Given the description of an element on the screen output the (x, y) to click on. 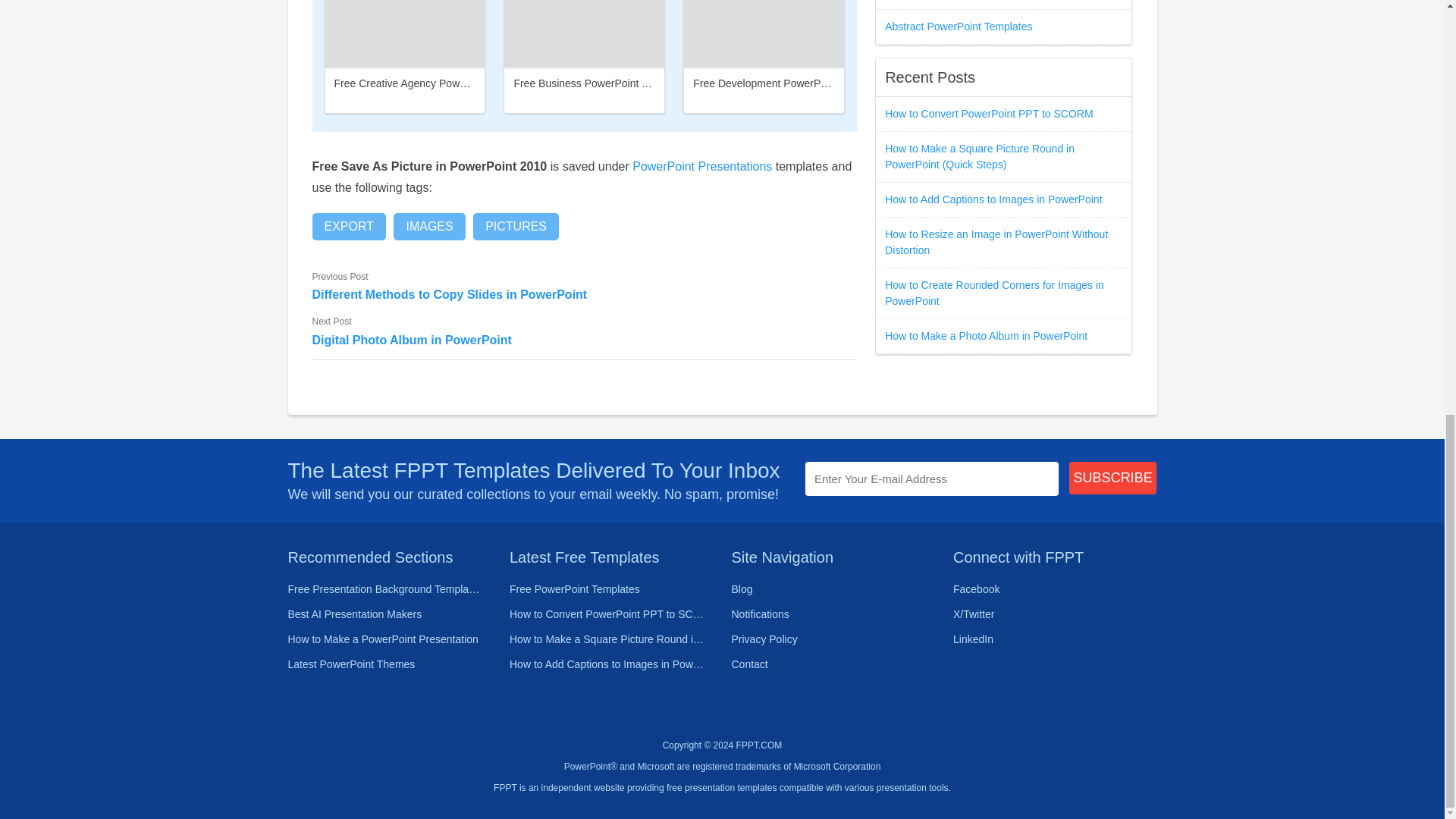
PICTURES (516, 226)
Free Business PowerPoint Template (598, 82)
Free Creative Agency PowerPoint template (404, 33)
IMAGES (428, 226)
Free Creative Agency PowerPoint template (435, 82)
Free Development PowerPoint Template (788, 82)
Free Business Presentation PowerPoint Template (583, 33)
PowerPoint Presentations (701, 165)
Digital Photo Album in PowerPoint (585, 340)
Different Methods to Copy Slides in PowerPoint (585, 294)
